Given the description of an element on the screen output the (x, y) to click on. 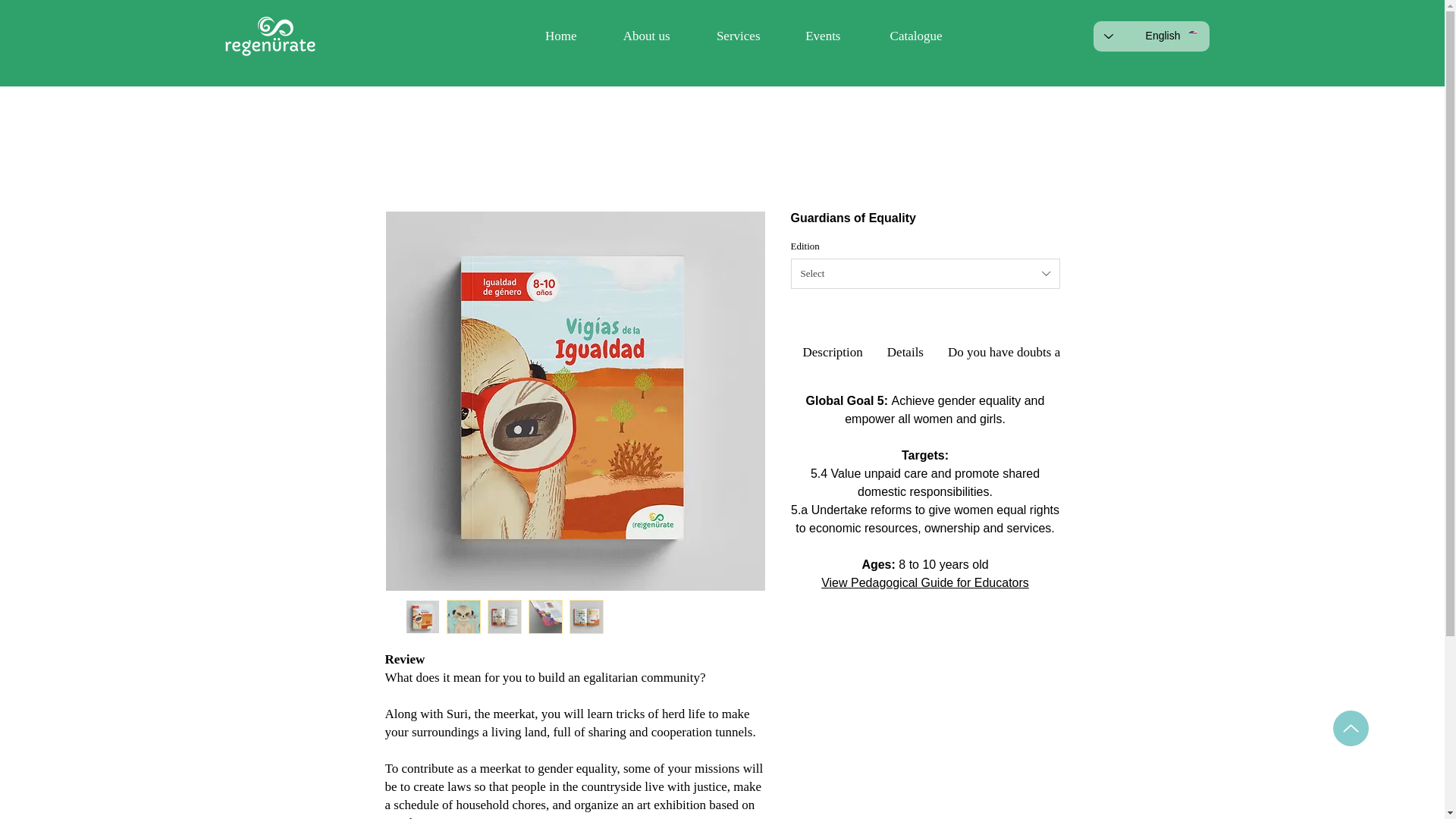
Select (924, 273)
Home (548, 35)
Use right and left arrows to navigate between tabs (1067, 352)
Use right and left arrows to navigate between tabs (905, 352)
Events (811, 35)
Use right and left arrows to navigate between tabs (832, 352)
View Pedagogical Guide for Educators (925, 582)
